Given the description of an element on the screen output the (x, y) to click on. 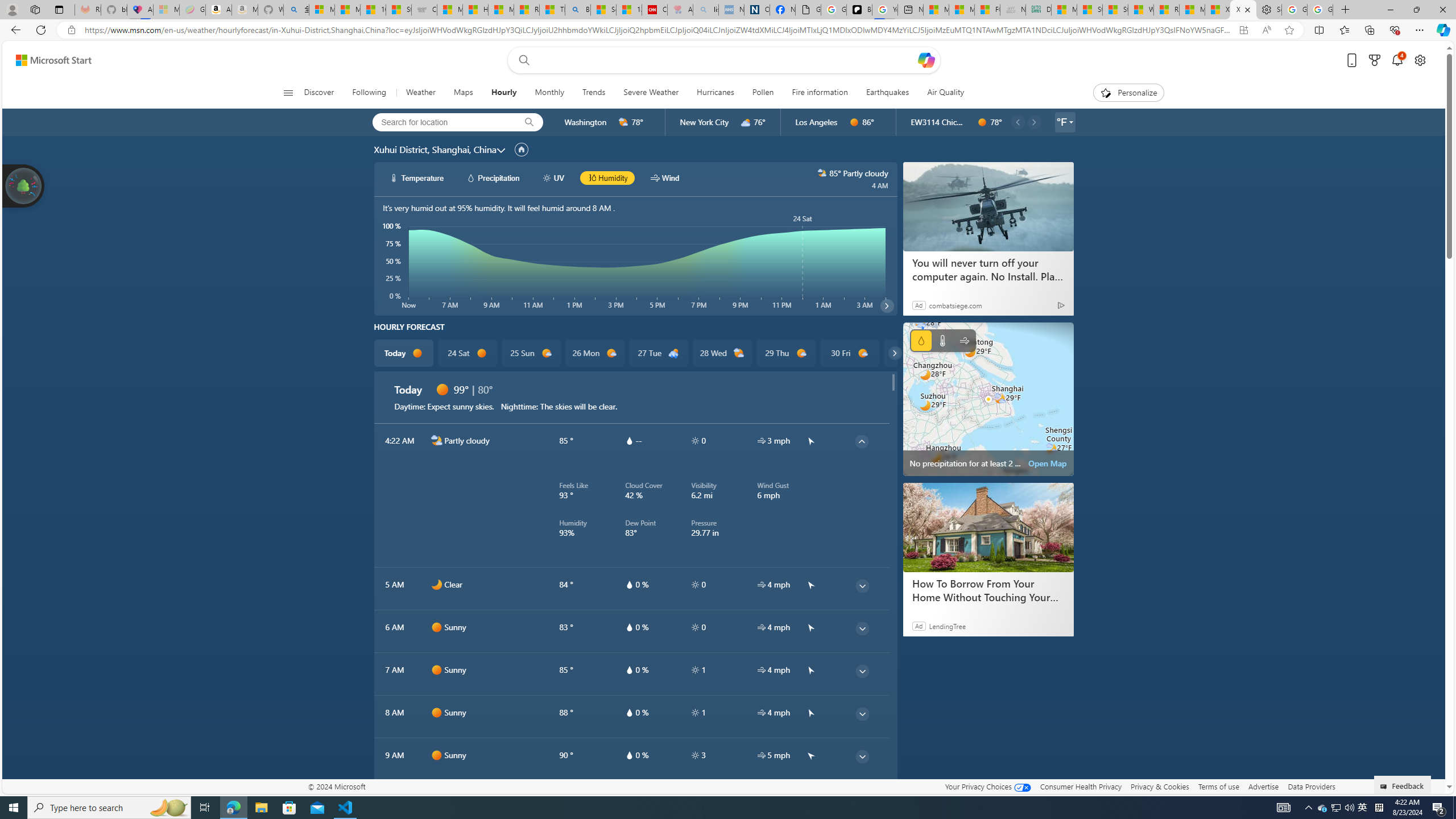
Open Map (1047, 463)
Fire information (819, 92)
hourlyTable/drop (628, 755)
25 Sun d1000 (530, 352)
How I Got Rid of Microsoft Edge's Unnecessary Features (475, 9)
Terms of use (1218, 786)
hourlyChart/precipitationWhite (470, 177)
